Given the description of an element on the screen output the (x, y) to click on. 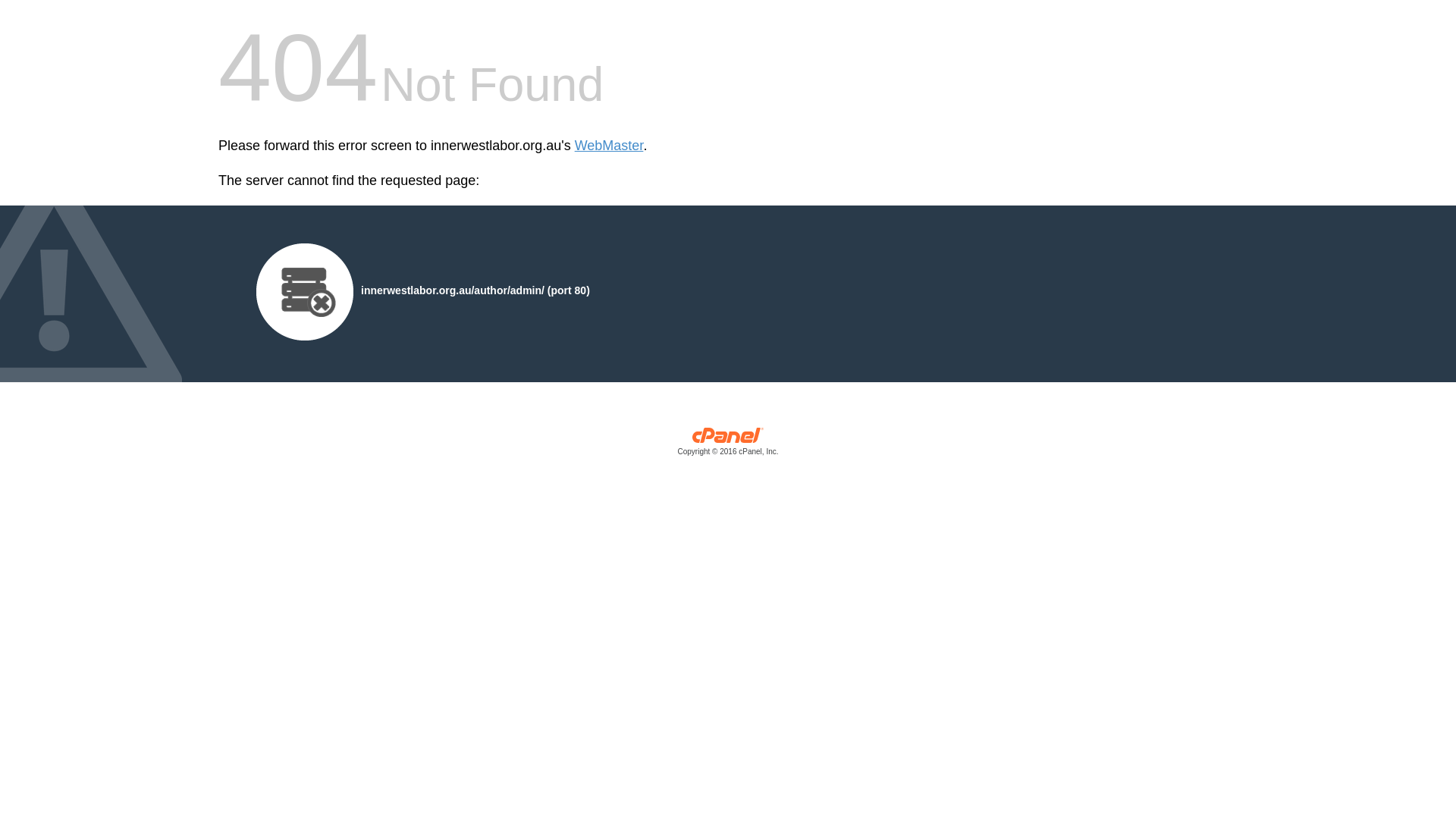
WebMaster Element type: text (608, 145)
